Given the description of an element on the screen output the (x, y) to click on. 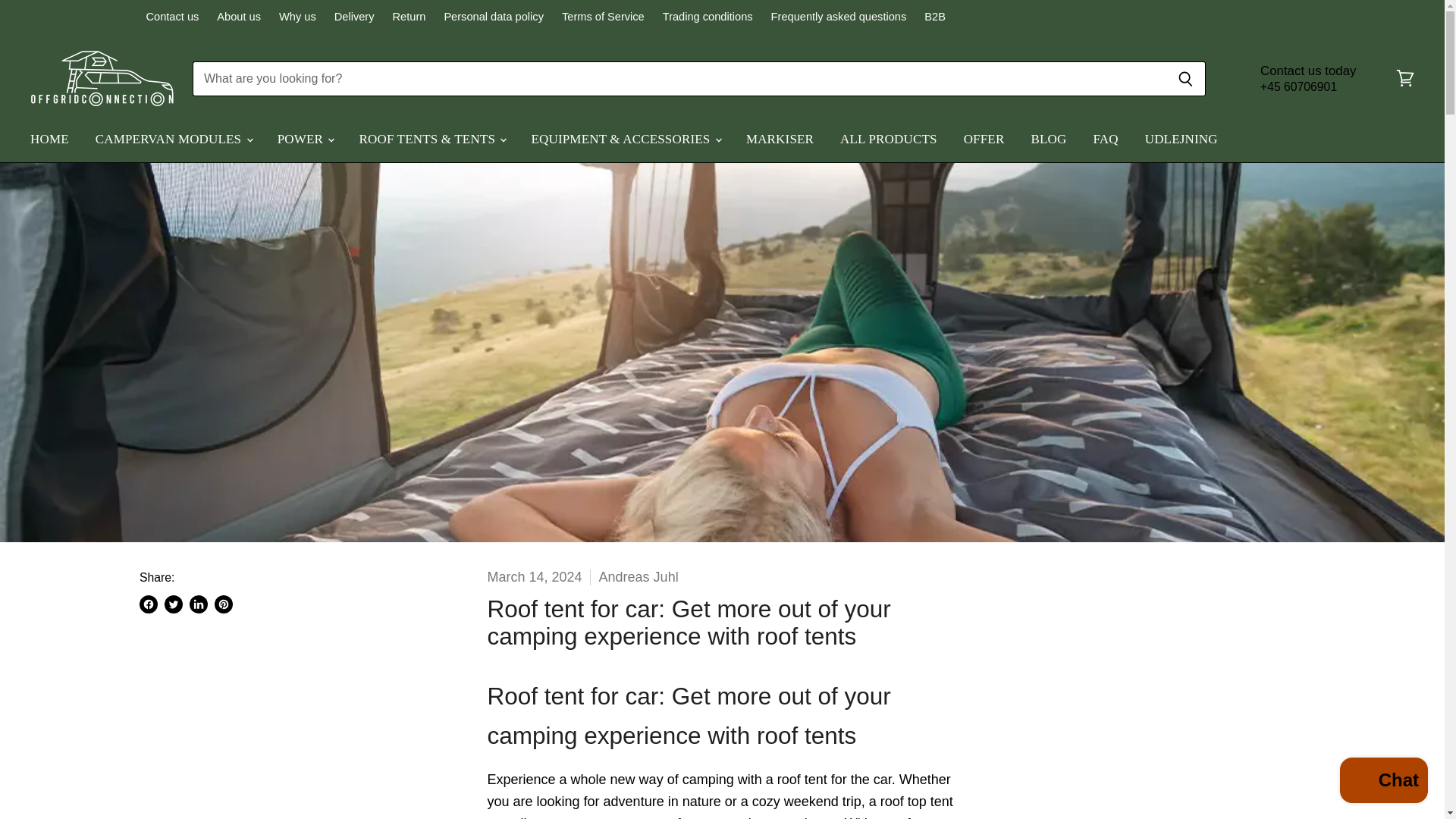
Chat icon (1241, 78)
Contact us (171, 16)
CAMPERVAN MODULES (173, 139)
Trading conditions (707, 16)
Why us (297, 16)
Return (409, 16)
POWER (304, 139)
Terms of Service (603, 16)
Frequently asked questions (839, 16)
B2B (934, 16)
